Given the description of an element on the screen output the (x, y) to click on. 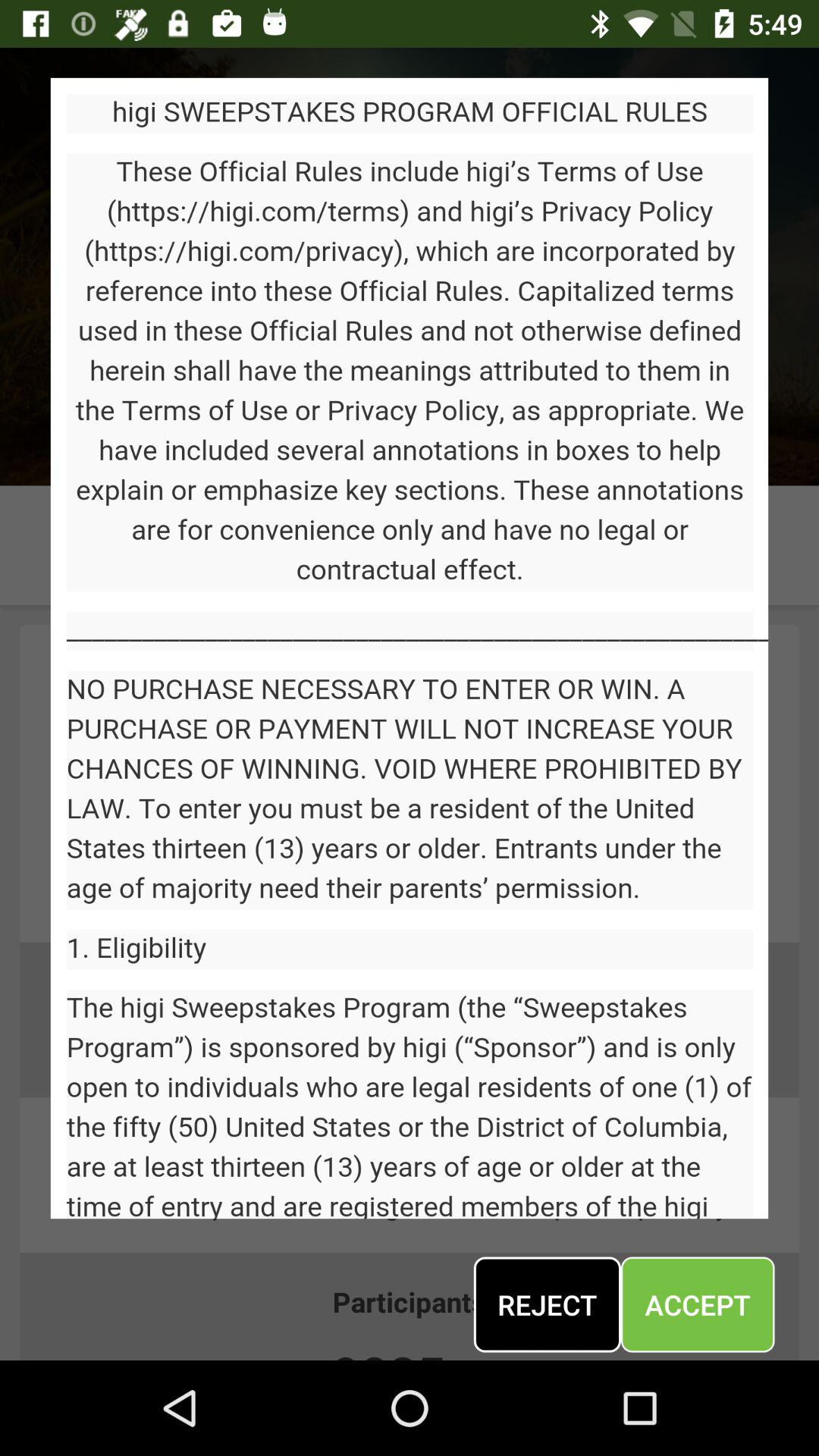
read article (409, 647)
